Given the description of an element on the screen output the (x, y) to click on. 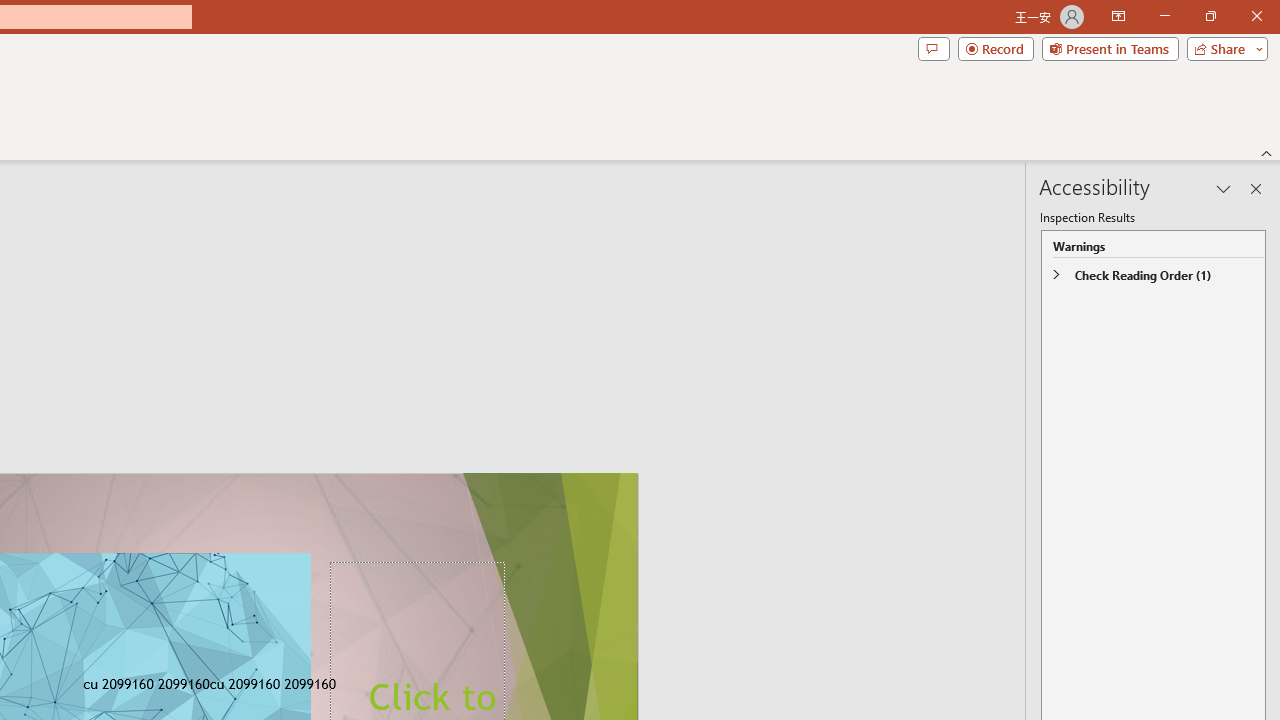
TextBox 61 (262, 686)
